Given the description of an element on the screen output the (x, y) to click on. 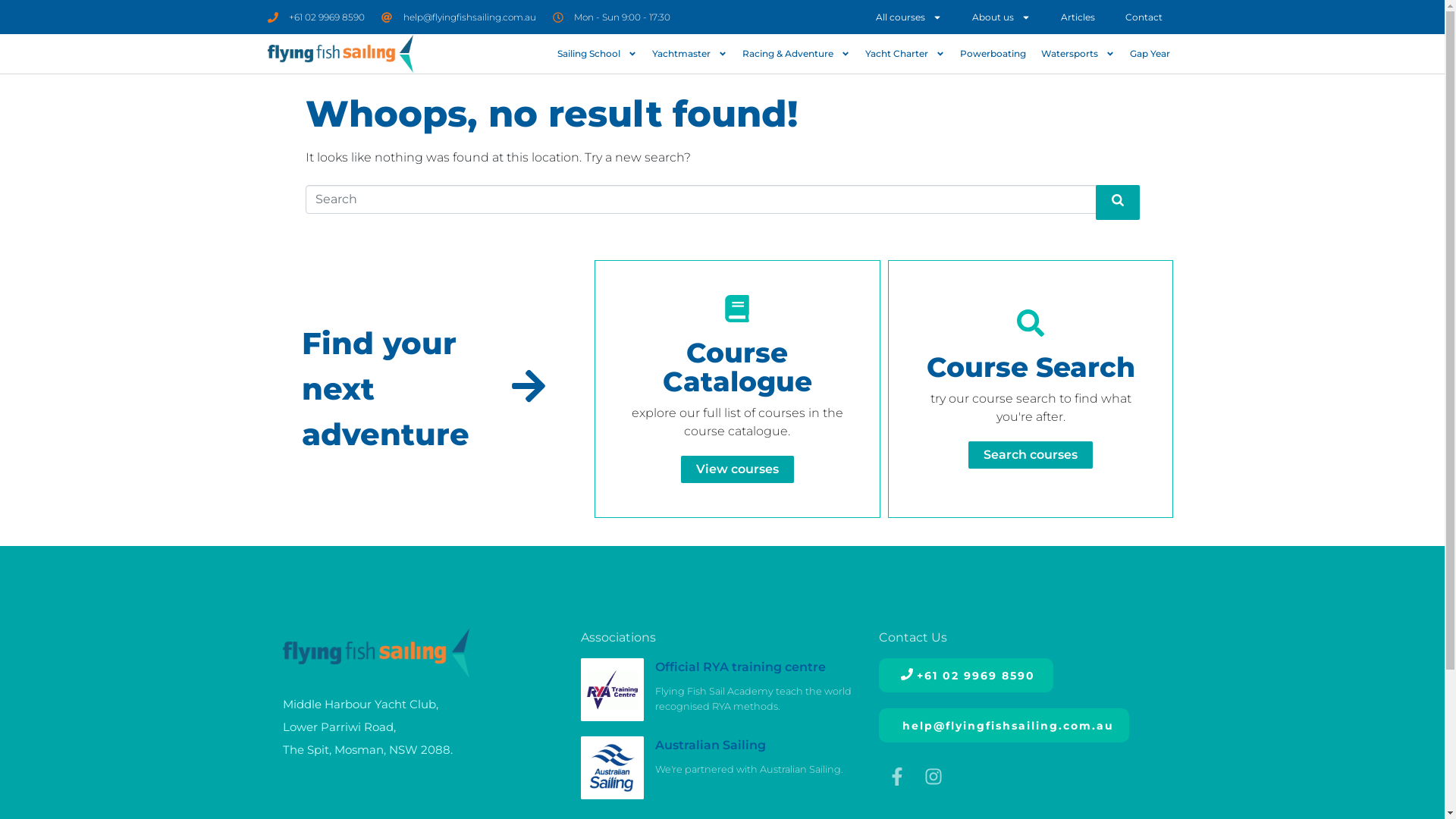
View courses Element type: text (736, 469)
Australian Sailing Element type: text (710, 744)
Yachtmaster Element type: text (689, 53)
Contact Element type: text (1143, 17)
Course Search Element type: text (1030, 366)
Course Catalogue Element type: text (737, 366)
Racing & Adventure Element type: text (795, 53)
Gap Year Element type: text (1149, 53)
help@flyingfishsailing.com.au Element type: text (458, 17)
Sailing School Element type: text (596, 53)
Official RYA training centre Element type: text (740, 666)
About us Element type: text (1001, 17)
Search courses Element type: text (1030, 454)
Watersports Element type: text (1076, 53)
Powerboating Element type: text (992, 53)
Yacht Charter Element type: text (903, 53)
Articles Element type: text (1076, 17)
+61 02 9969 8590 Element type: text (315, 17)
help@flyingfishsailing.com.au Element type: text (1003, 725)
+61 02 9969 8590 Element type: text (965, 675)
All courses Element type: text (907, 17)
